Given the description of an element on the screen output the (x, y) to click on. 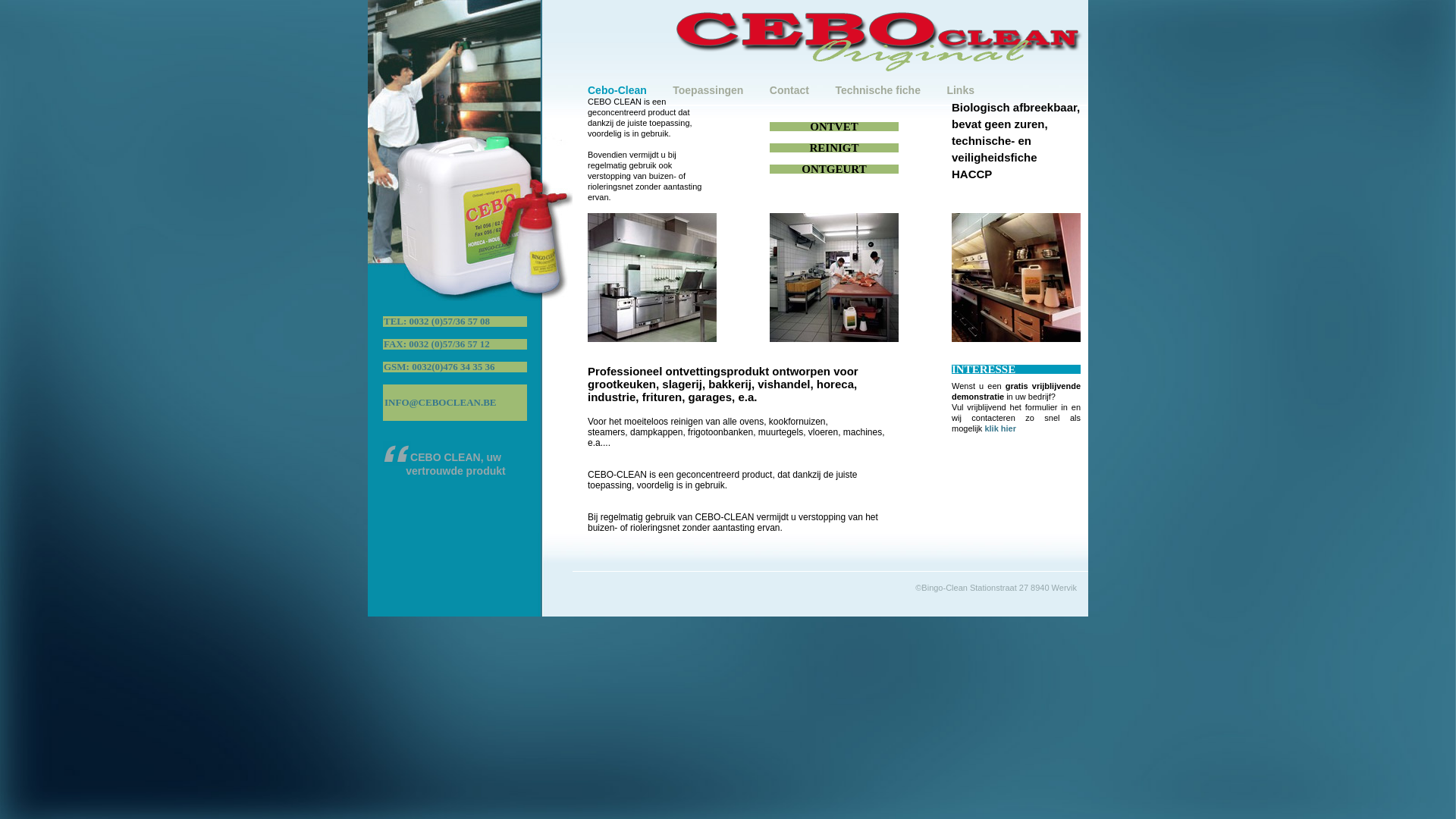
Links Element type: text (960, 90)
Cebo-Clean Element type: text (616, 90)
Contact Element type: text (789, 90)
INFO@CEBOCLEAN.BE Element type: text (454, 402)
Toepassingen Element type: text (707, 90)
klik hier Element type: text (1000, 428)
Technische fiche Element type: text (877, 90)
